Given the description of an element on the screen output the (x, y) to click on. 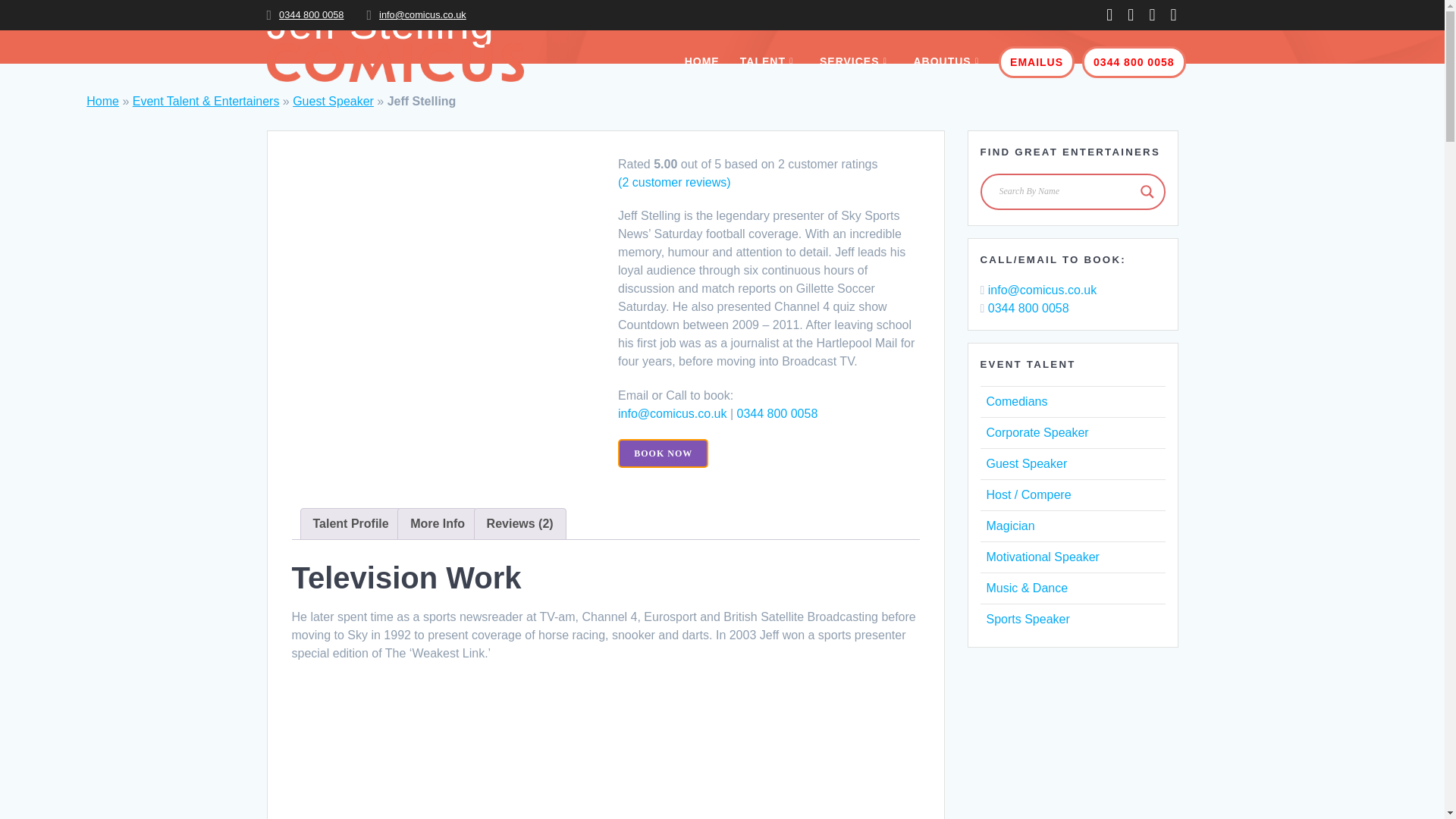
Comicus (701, 61)
Hire Event Talent (769, 61)
Creative Services (855, 61)
EMAILUS (1036, 62)
ABOUTUS (948, 61)
TALENT (769, 61)
HOME (701, 61)
0344 800 0058 (1133, 62)
SERVICES (855, 61)
0344 800 0058 (311, 14)
